Given the description of an element on the screen output the (x, y) to click on. 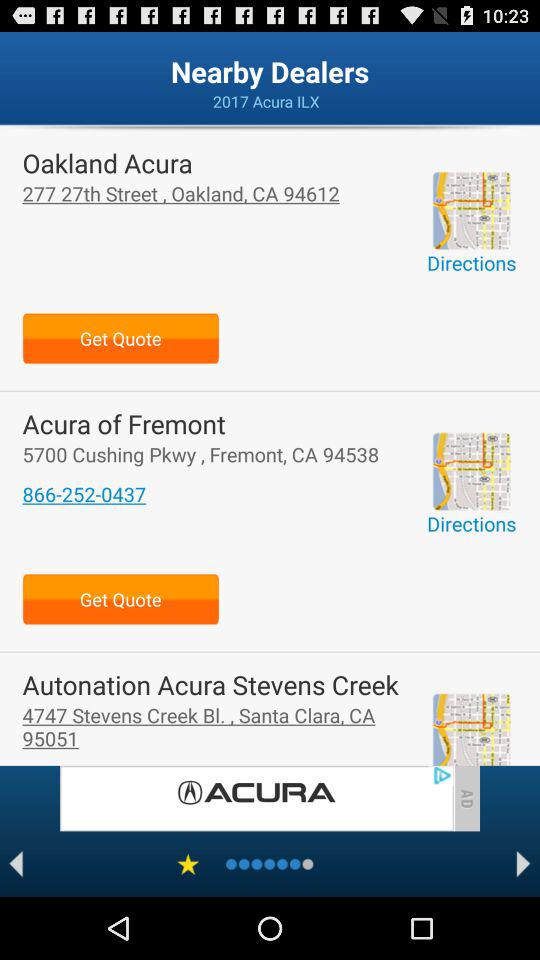
go to next page (523, 864)
